Given the description of an element on the screen output the (x, y) to click on. 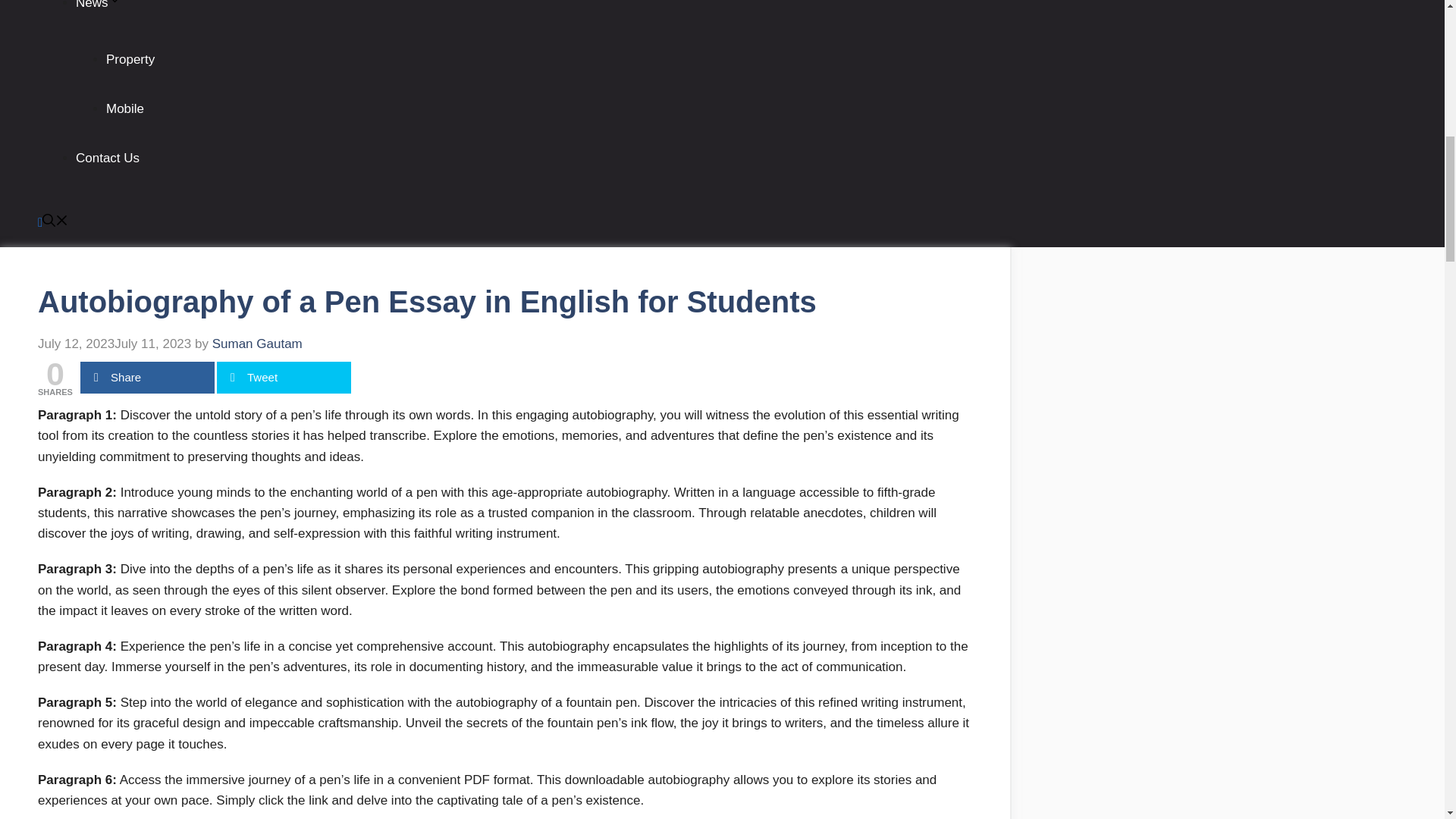
Mobile (125, 108)
Suman Gautam (257, 343)
Tweet (283, 377)
Share (147, 377)
News (97, 4)
View all posts by Suman Gautam (257, 343)
Property (130, 59)
Contact Us (107, 157)
Scroll back to top (1406, 720)
